Given the description of an element on the screen output the (x, y) to click on. 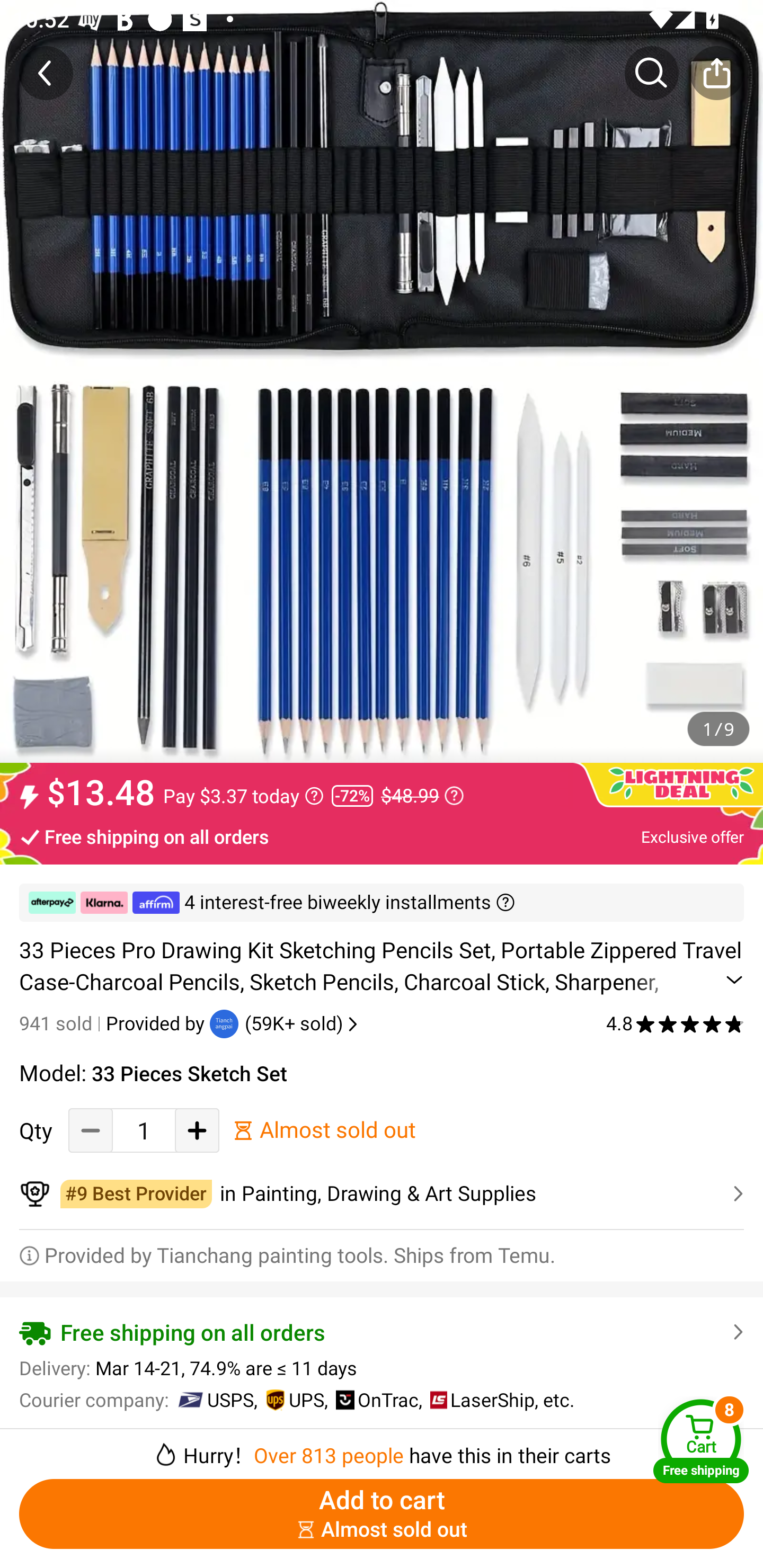
Back (46, 72)
Share (716, 72)
Pay $3.37 today   (243, 795)
Free shipping on all orders Exclusive offer (381, 836)
￼ ￼ ￼ 4 interest-free biweekly installments ￼ (381, 902)
941 sold Provided by  (114, 1023)
4.8 (674, 1023)
Decrease Quantity Button (90, 1130)
1 (143, 1130)
Add Quantity button (196, 1130)
￼￼in Painting, Drawing & Art Supplies (381, 1193)
Cart Free shipping Cart (701, 1440)
￼￼Hurry！Over 813 people have this in their carts (381, 1448)
Add to cart ￼￼Almost sold out (381, 1513)
